Given the description of an element on the screen output the (x, y) to click on. 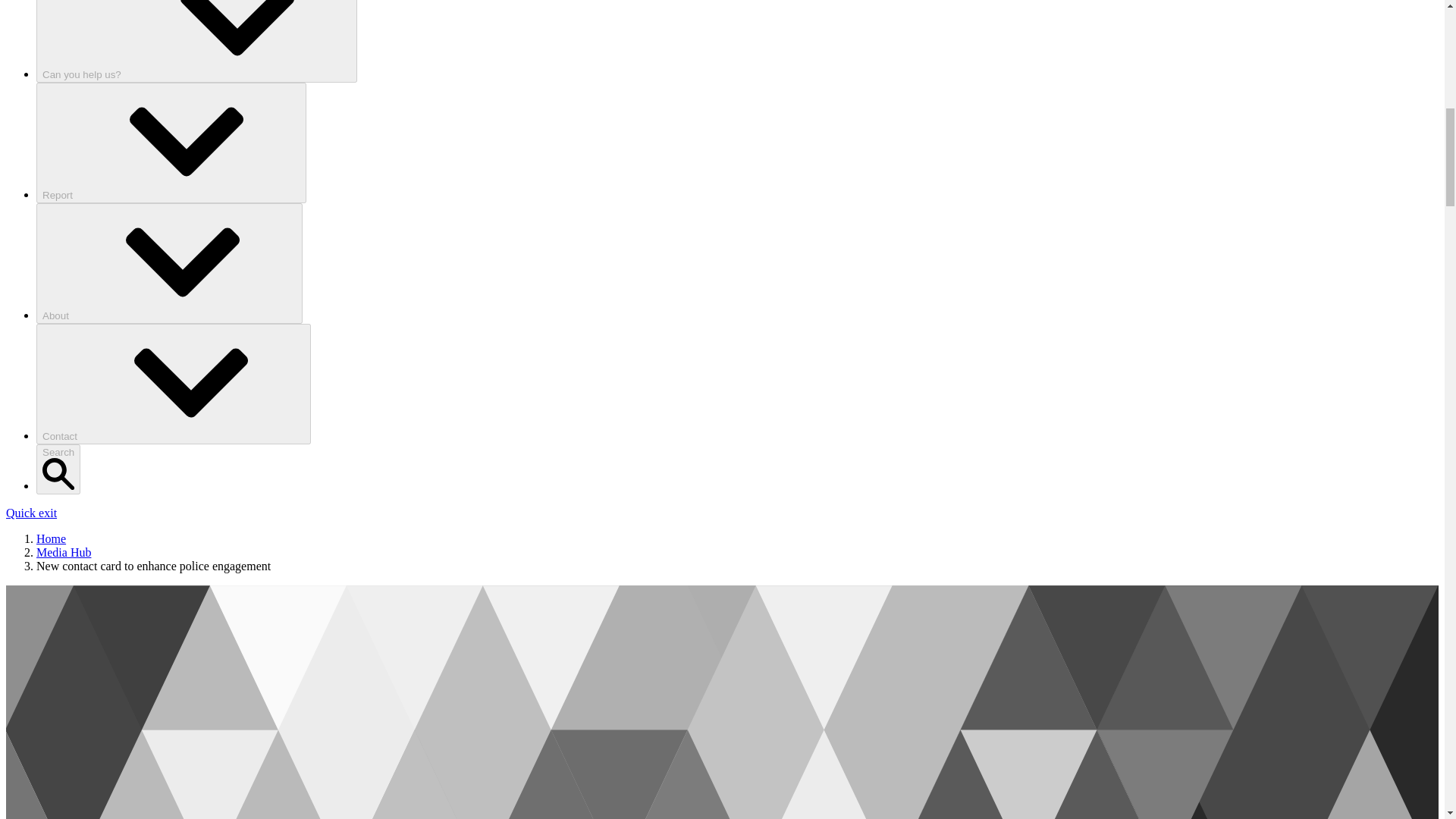
Media Hub (63, 552)
Home (50, 538)
Quick exit (30, 512)
